Given the description of an element on the screen output the (x, y) to click on. 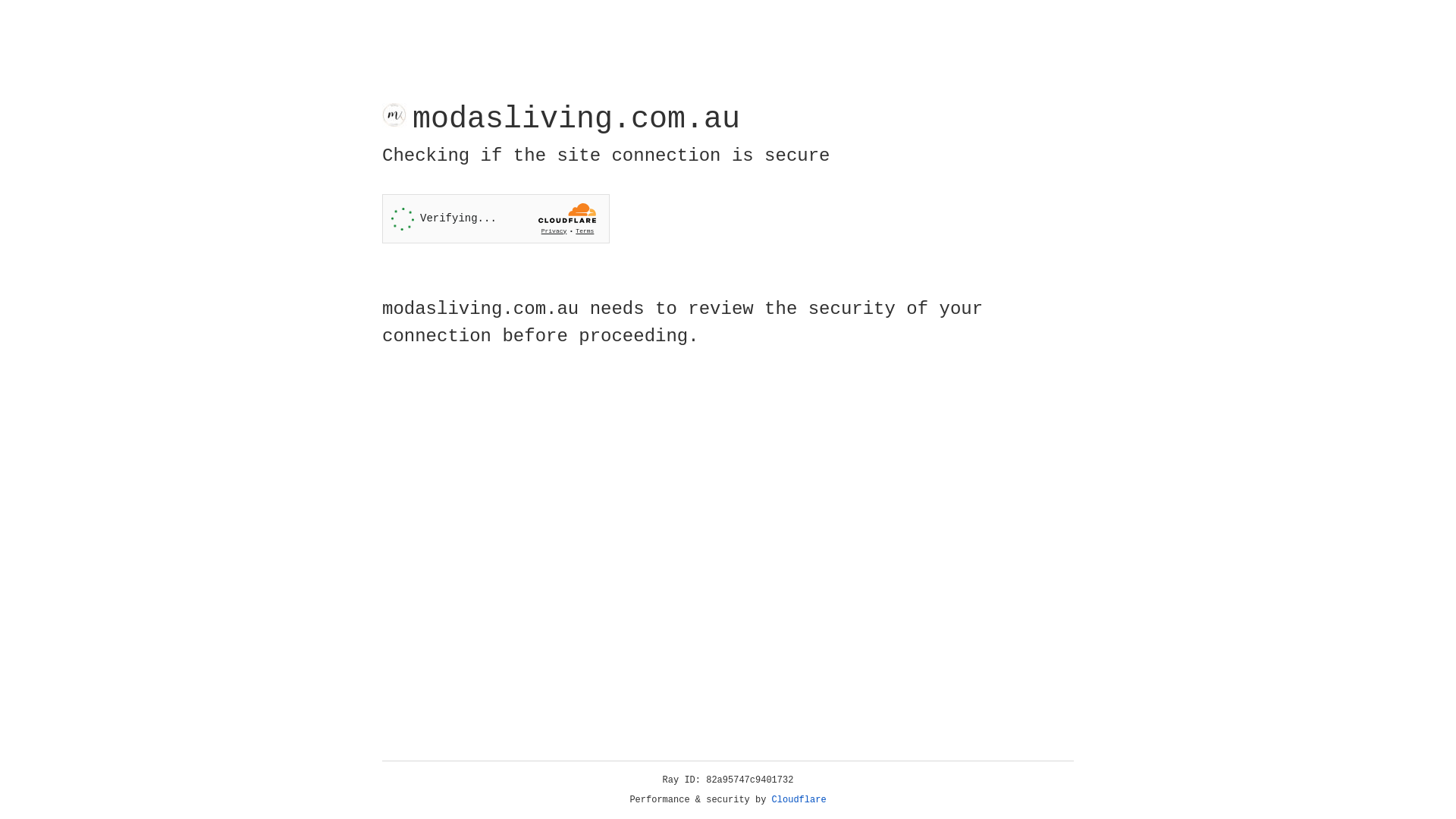
Cloudflare Element type: text (798, 799)
Widget containing a Cloudflare security challenge Element type: hover (495, 218)
